Given the description of an element on the screen output the (x, y) to click on. 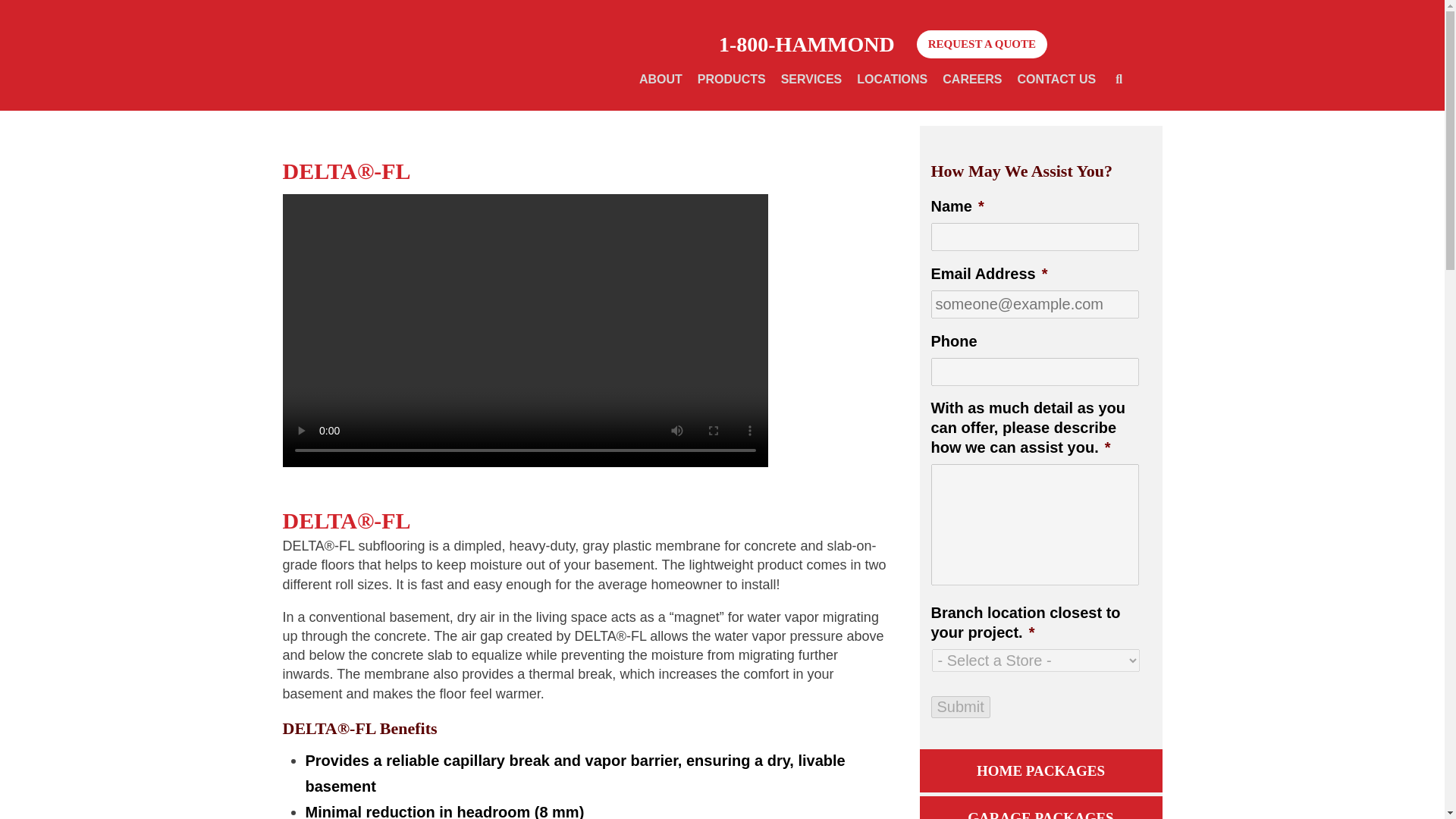
1-800-HAMMOND (807, 44)
Hammond Lumber Company (428, 55)
Hammond Lumber Company (428, 55)
PRODUCTS (882, 79)
REQUEST A QUOTE (731, 79)
ABOUT (981, 44)
Submit (660, 79)
